Given the description of an element on the screen output the (x, y) to click on. 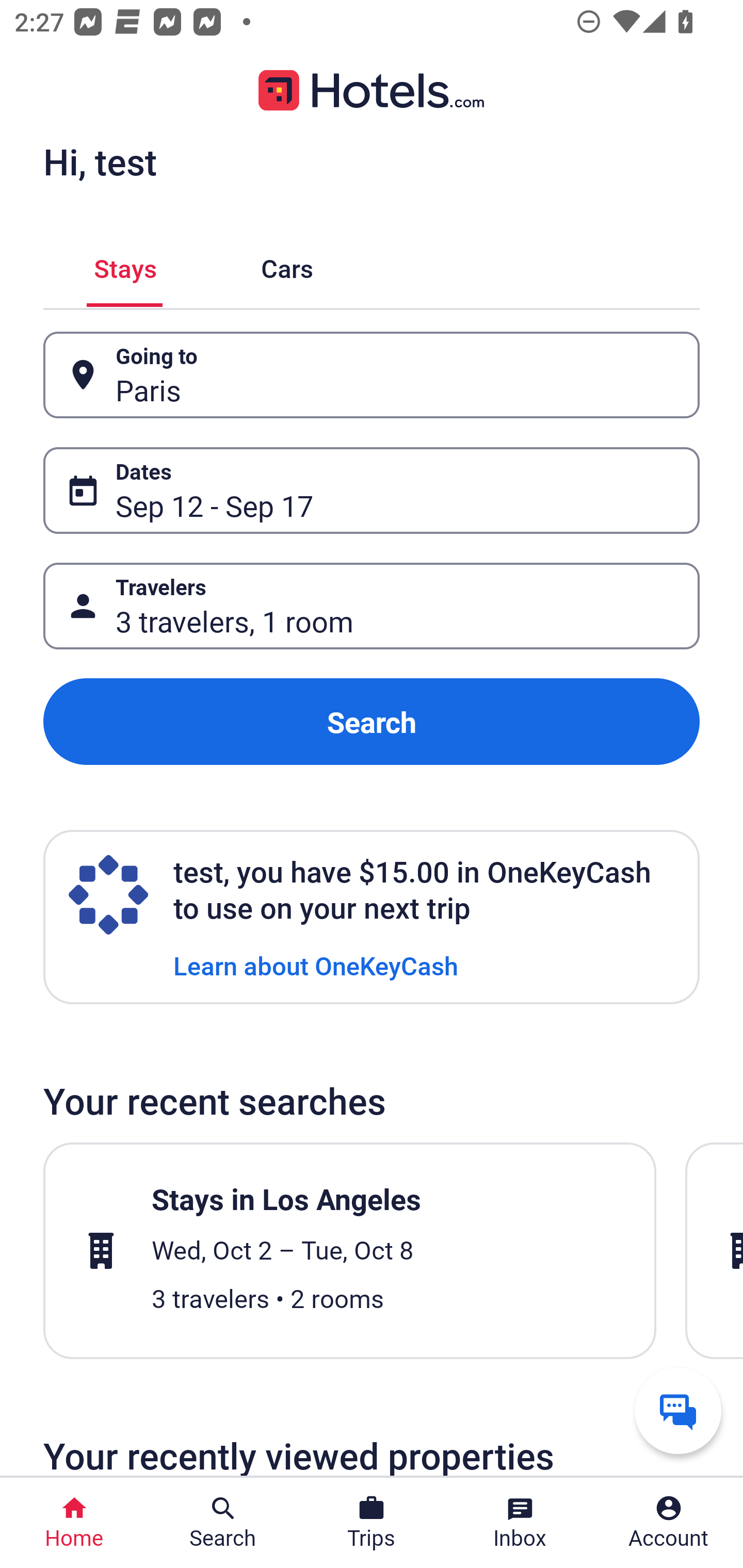
Hi, test (99, 161)
Cars (286, 265)
Going to Button Paris (371, 375)
Dates Button Sep 12 - Sep 17 (371, 489)
Travelers Button 3 travelers, 1 room (371, 605)
Search (371, 721)
Learn about OneKeyCash Learn about OneKeyCash Link (315, 964)
Get help from a virtual agent (677, 1410)
Search Search Button (222, 1522)
Trips Trips Button (371, 1522)
Inbox Inbox Button (519, 1522)
Account Profile. Button (668, 1522)
